Given the description of an element on the screen output the (x, y) to click on. 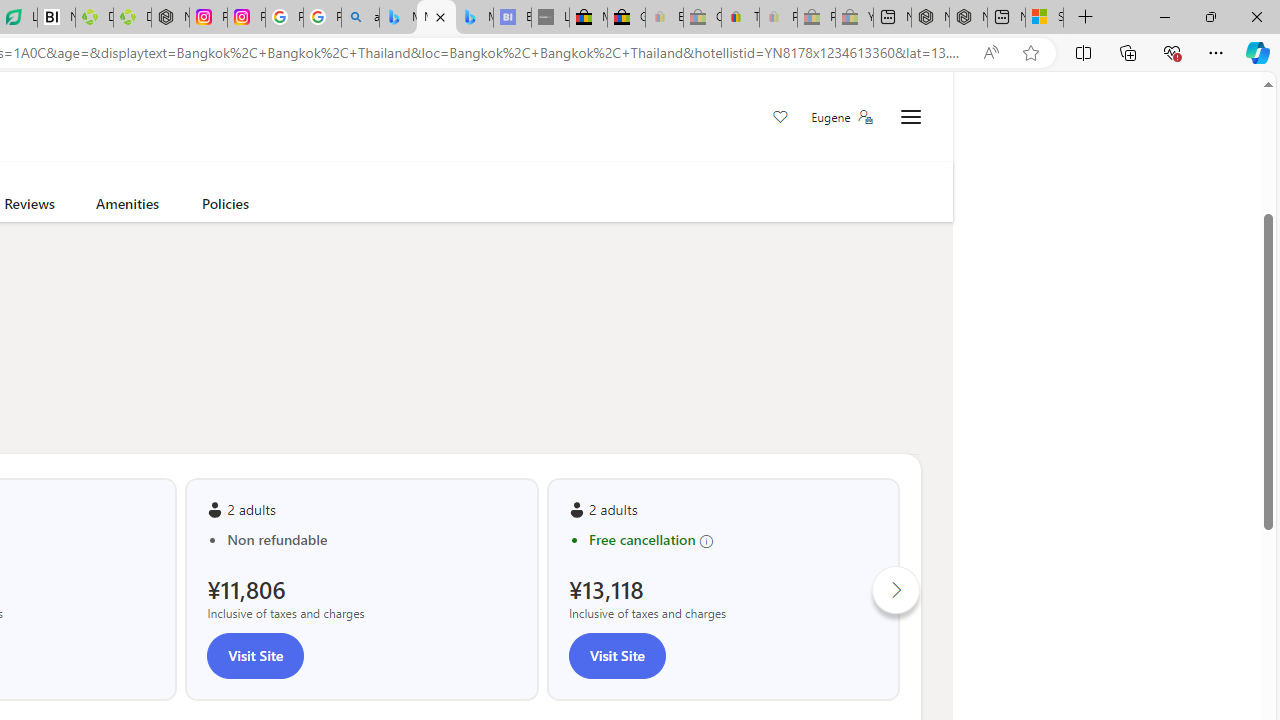
Visit Site (616, 655)
alabama high school quarterback dies - Search (359, 17)
Descarga Driver Updater (132, 17)
read more (152, 121)
Trip.com (840, 108)
Free cancellation (733, 540)
Press Room - eBay Inc. - Sleeping (815, 17)
